Given the description of an element on the screen output the (x, y) to click on. 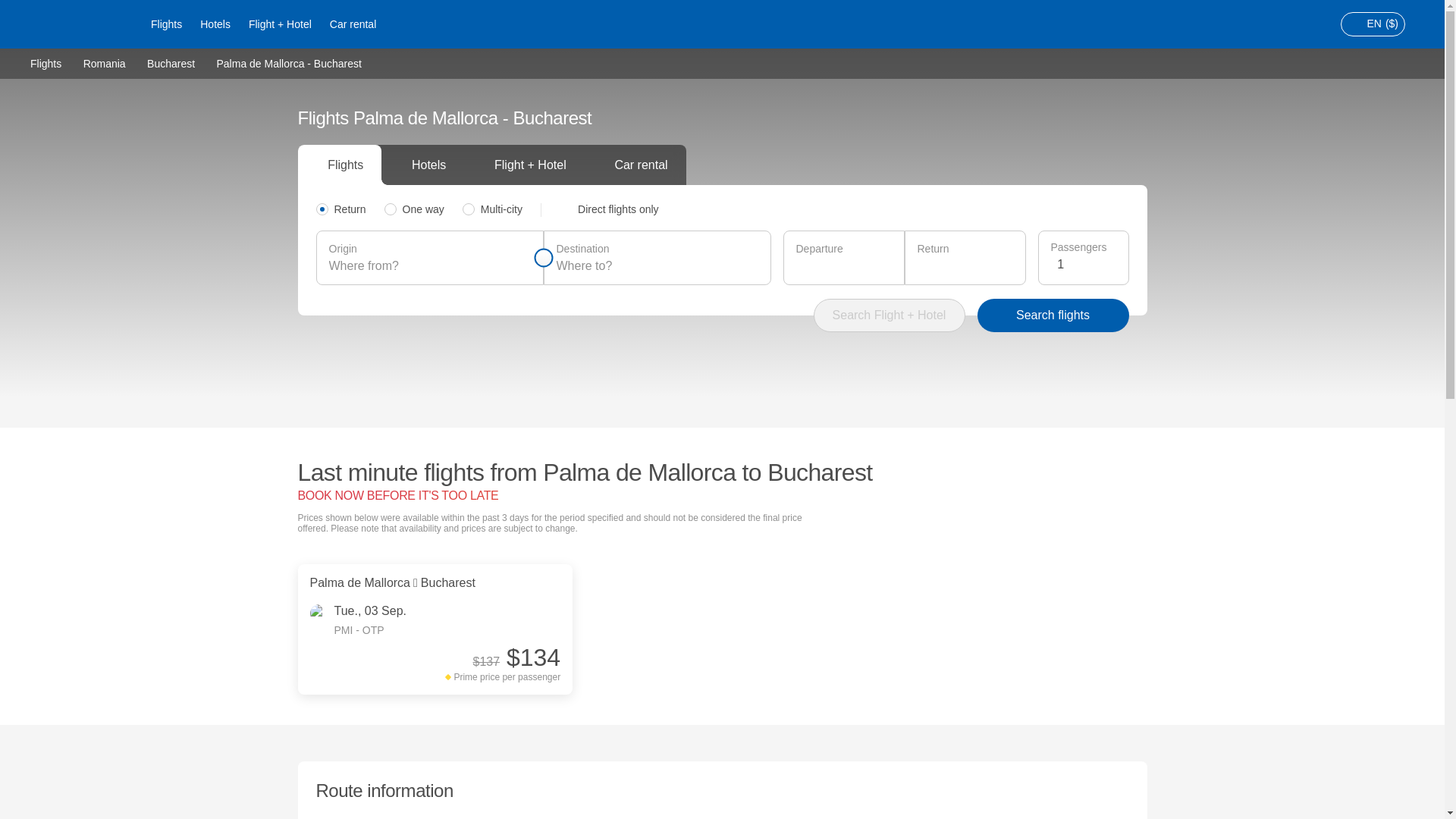
Flights (45, 62)
Bucharest (171, 62)
1 (1086, 263)
Flights (165, 24)
Search flights (1052, 315)
Car rental (352, 24)
Hotels (215, 24)
Romania (103, 62)
Palma de Mallorca - Bucharest (288, 63)
